Given the description of an element on the screen output the (x, y) to click on. 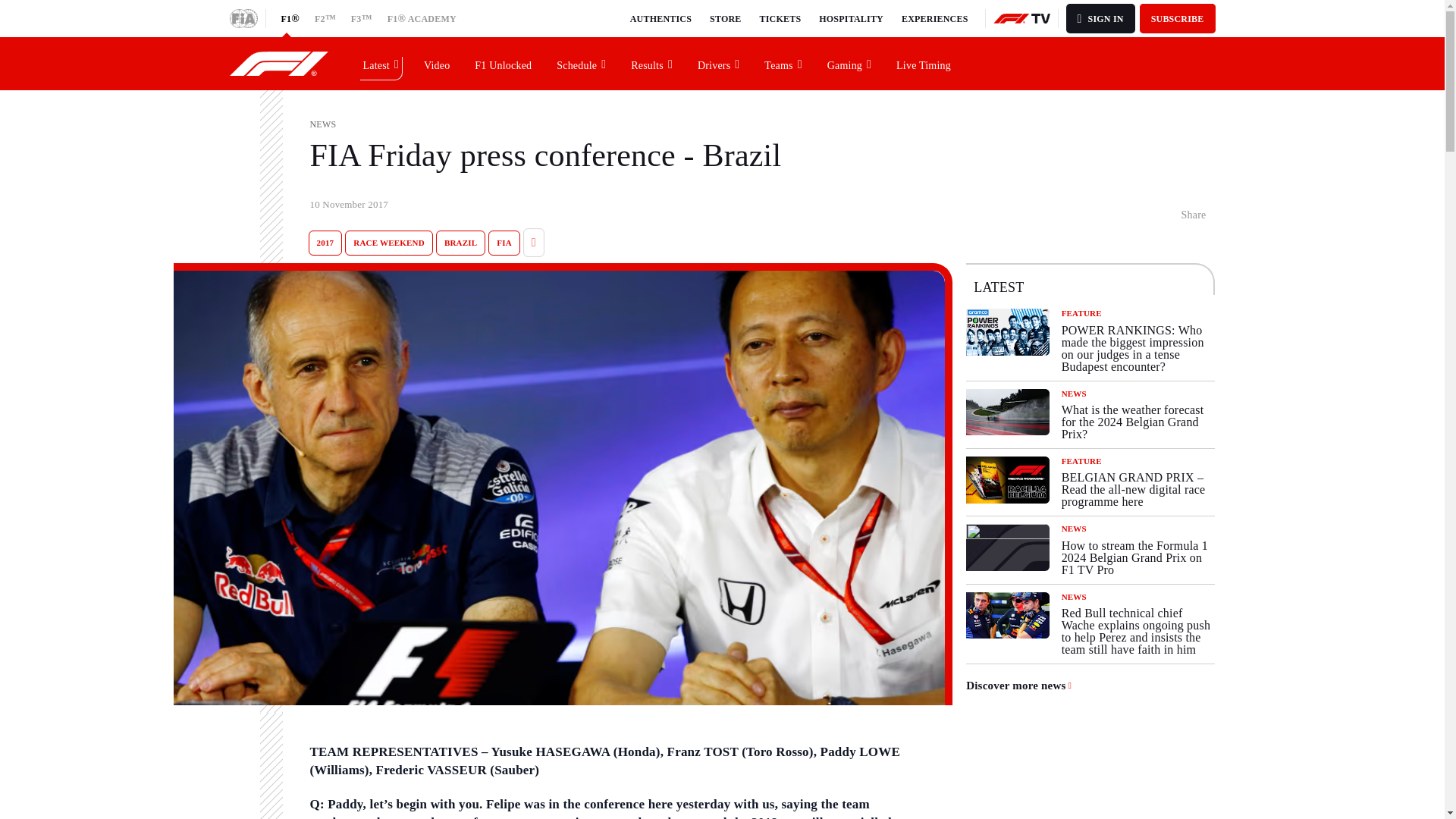
Teams (782, 63)
Schedule (581, 63)
SUBSCRIBE (1177, 18)
Latest (380, 63)
Results (651, 63)
F1 Unlocked (503, 63)
Video (437, 63)
Live Timing (923, 63)
Drivers (718, 63)
HOSPITALITY (850, 18)
Gaming (849, 63)
AUTHENTICS (660, 18)
FIA (503, 242)
2017 (324, 242)
STORE (725, 18)
